Given the description of an element on the screen output the (x, y) to click on. 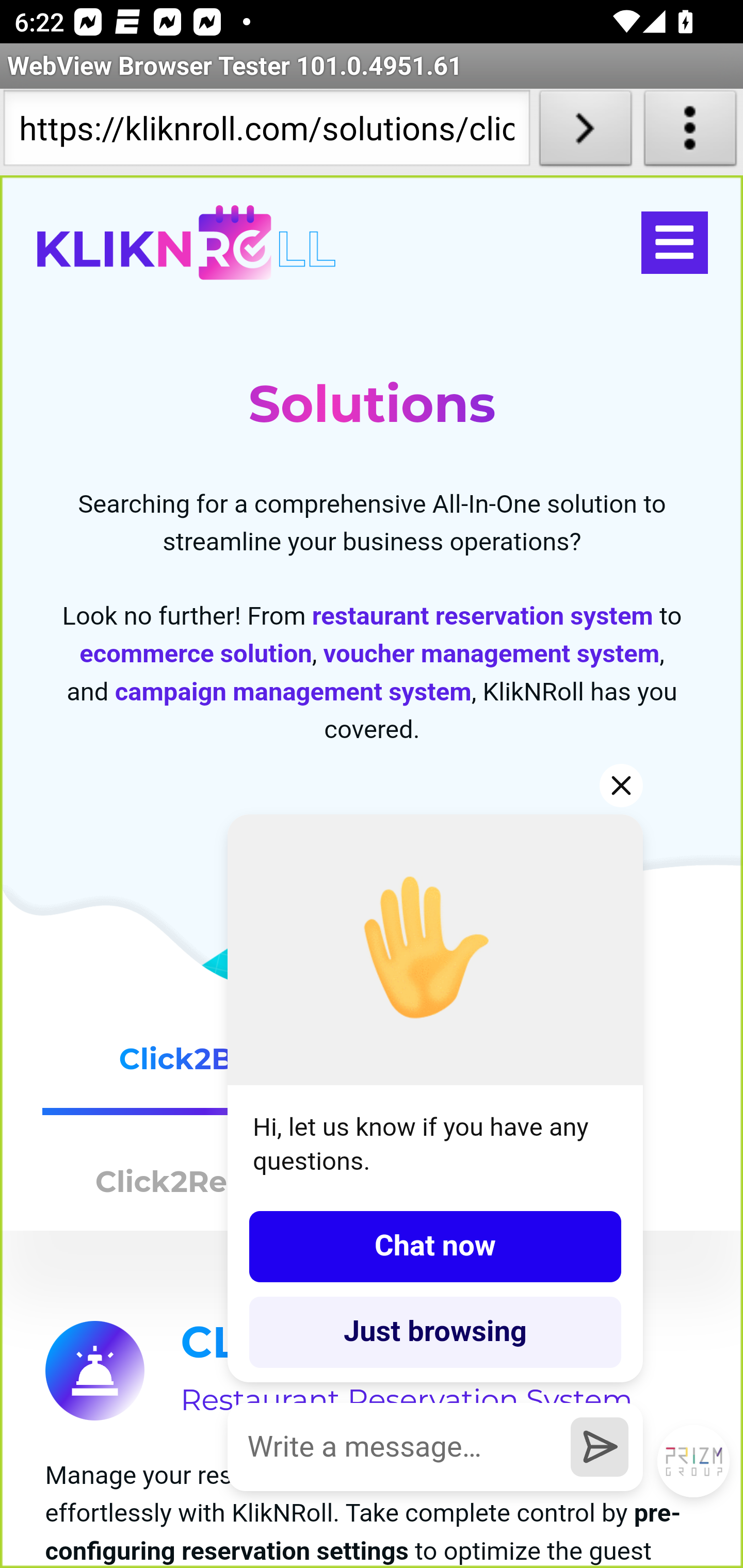
Load URL (585, 132)
About WebView (690, 132)
kliknroll (185, 242)
 (673, 242)
Hide greeting (621, 785)
Chat now (435, 1246)
Just browsing (435, 1331)
Send a message (600, 1446)
Open LiveChat chat widget (694, 1462)
